Given the description of an element on the screen output the (x, y) to click on. 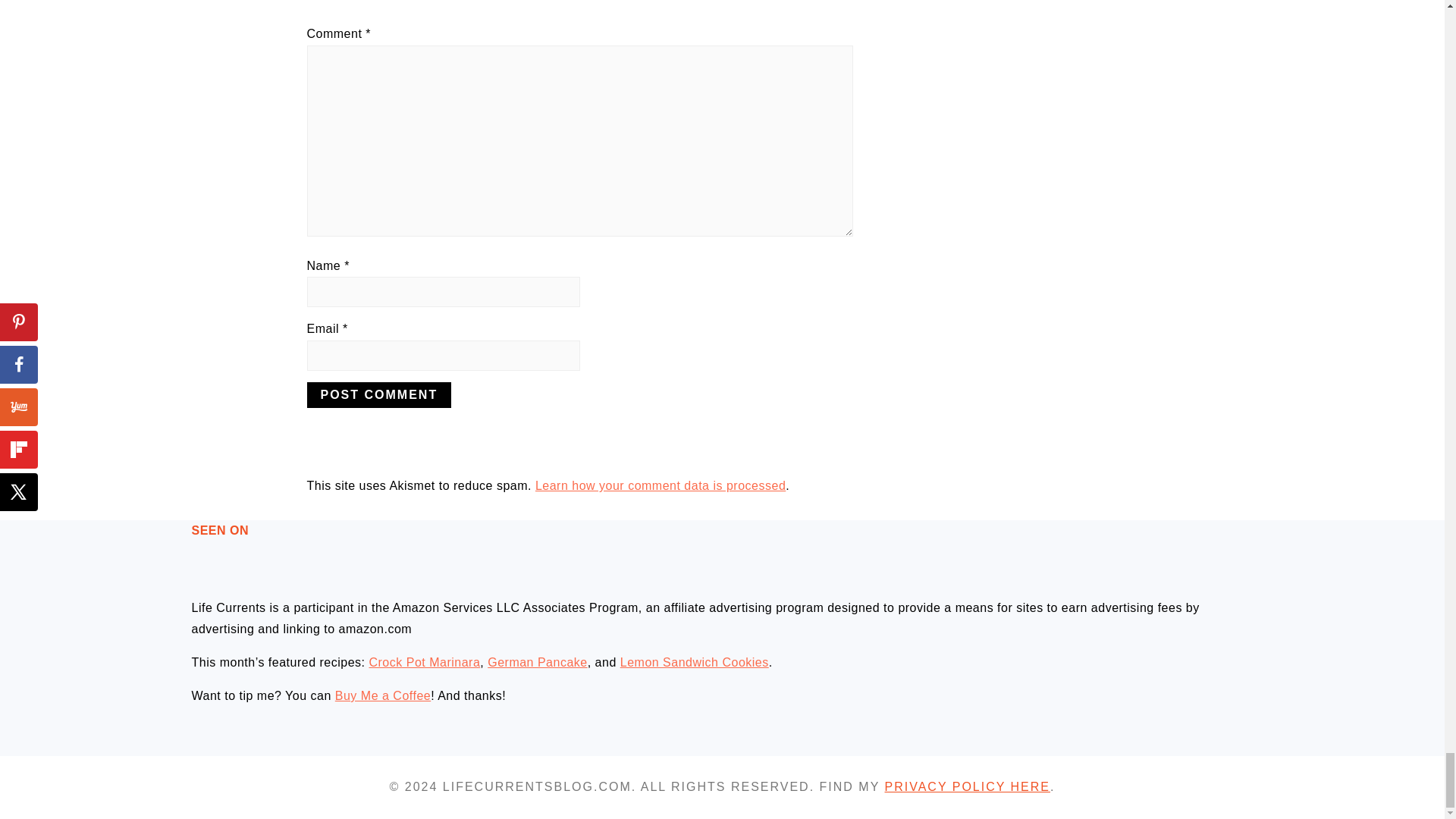
Post Comment (378, 394)
